Given the description of an element on the screen output the (x, y) to click on. 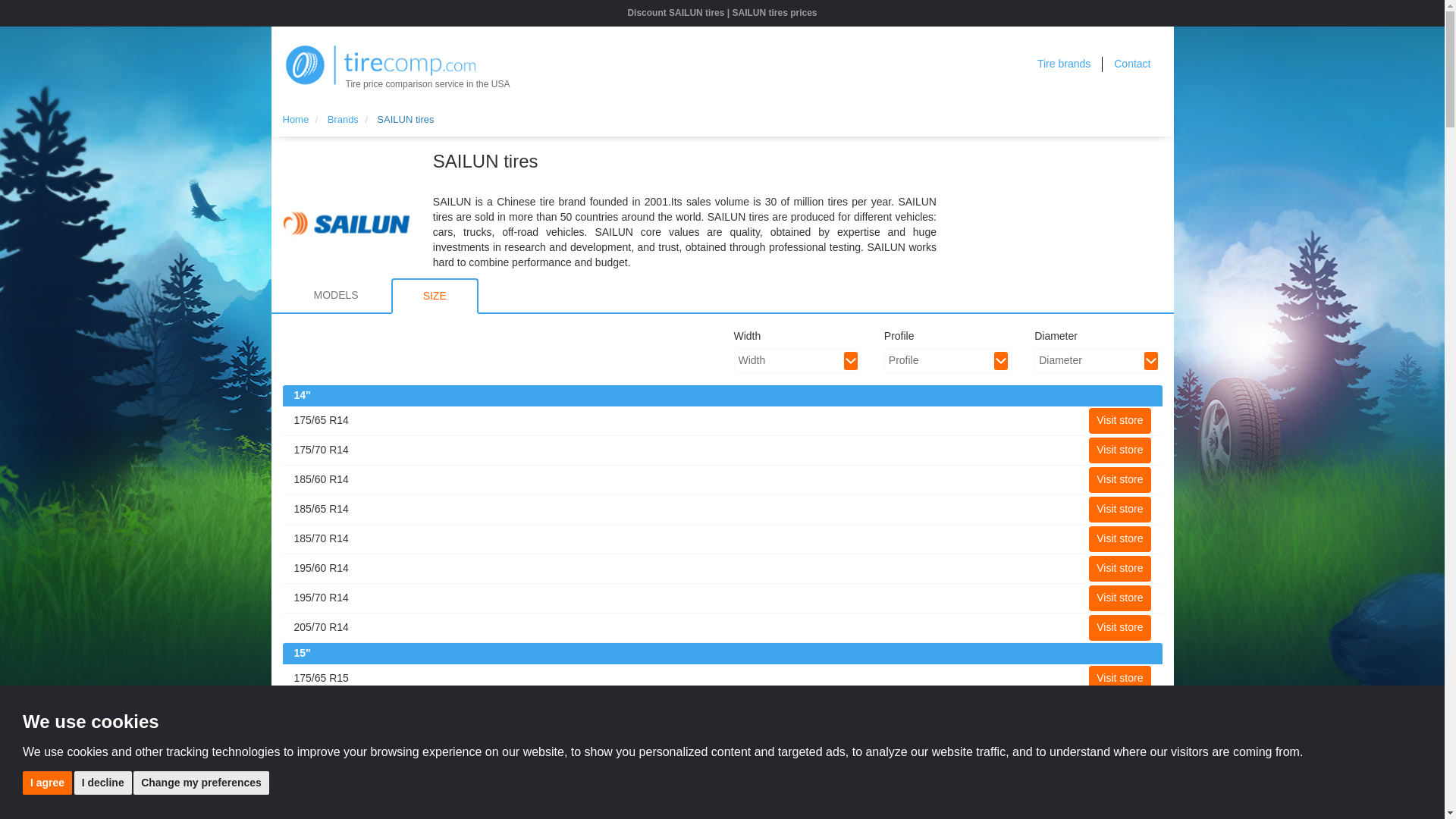
Brands (342, 119)
Contact (1131, 63)
Visit store (1119, 450)
Visit store (1119, 568)
Tire brands (1063, 63)
Visit store (1119, 737)
Visit store (1119, 420)
Visit store (1119, 539)
Visit store (1119, 767)
Visit store (1119, 796)
SAILUN tires (405, 119)
Visit store (1119, 627)
SIZE (435, 295)
I decline (103, 781)
Home (295, 119)
